Given the description of an element on the screen output the (x, y) to click on. 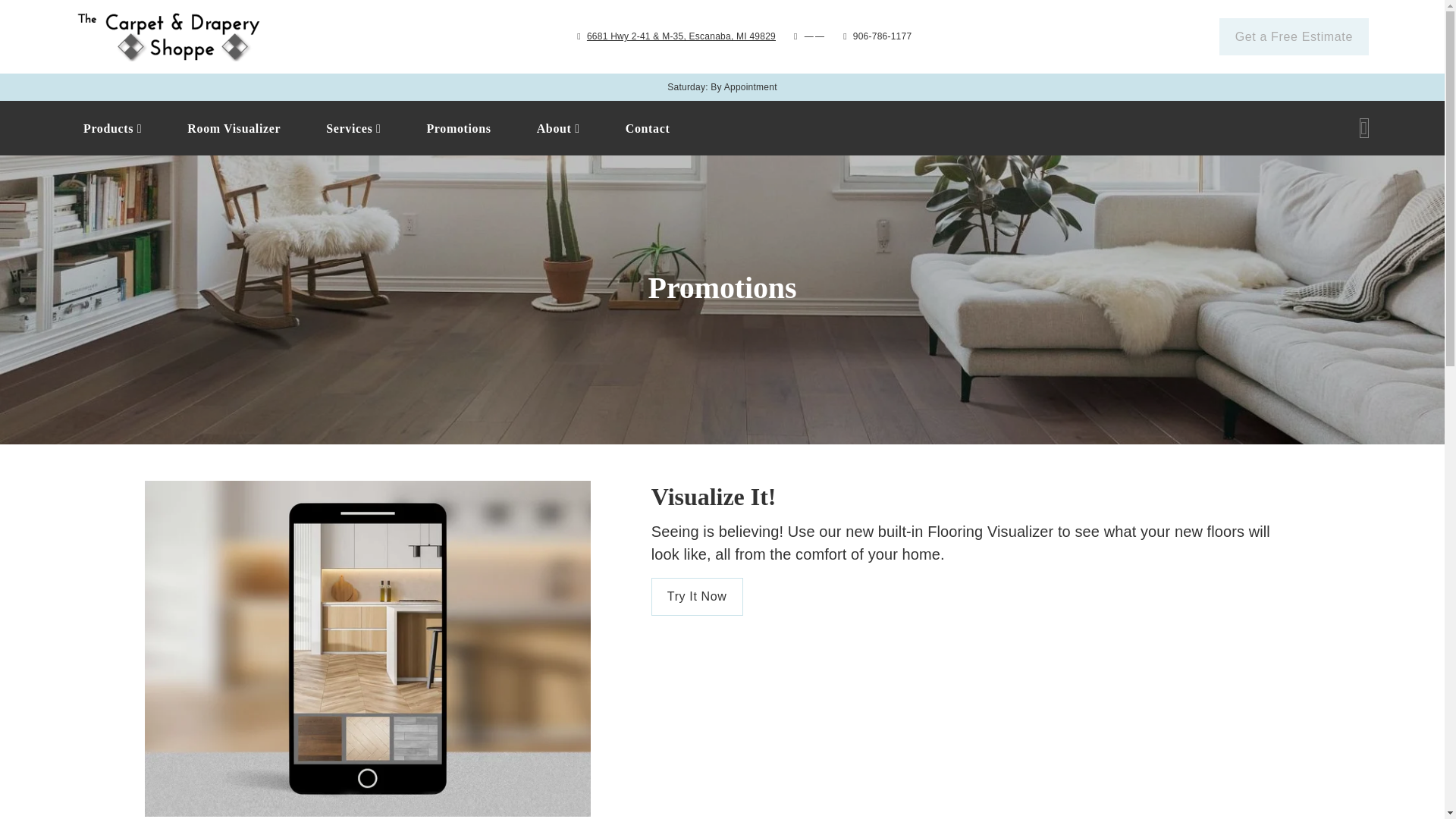
906-786-1177 (882, 36)
Products (678, 127)
Room Visualizer (112, 128)
Services (233, 128)
Get a Free Estimate (678, 127)
